Given the description of an element on the screen output the (x, y) to click on. 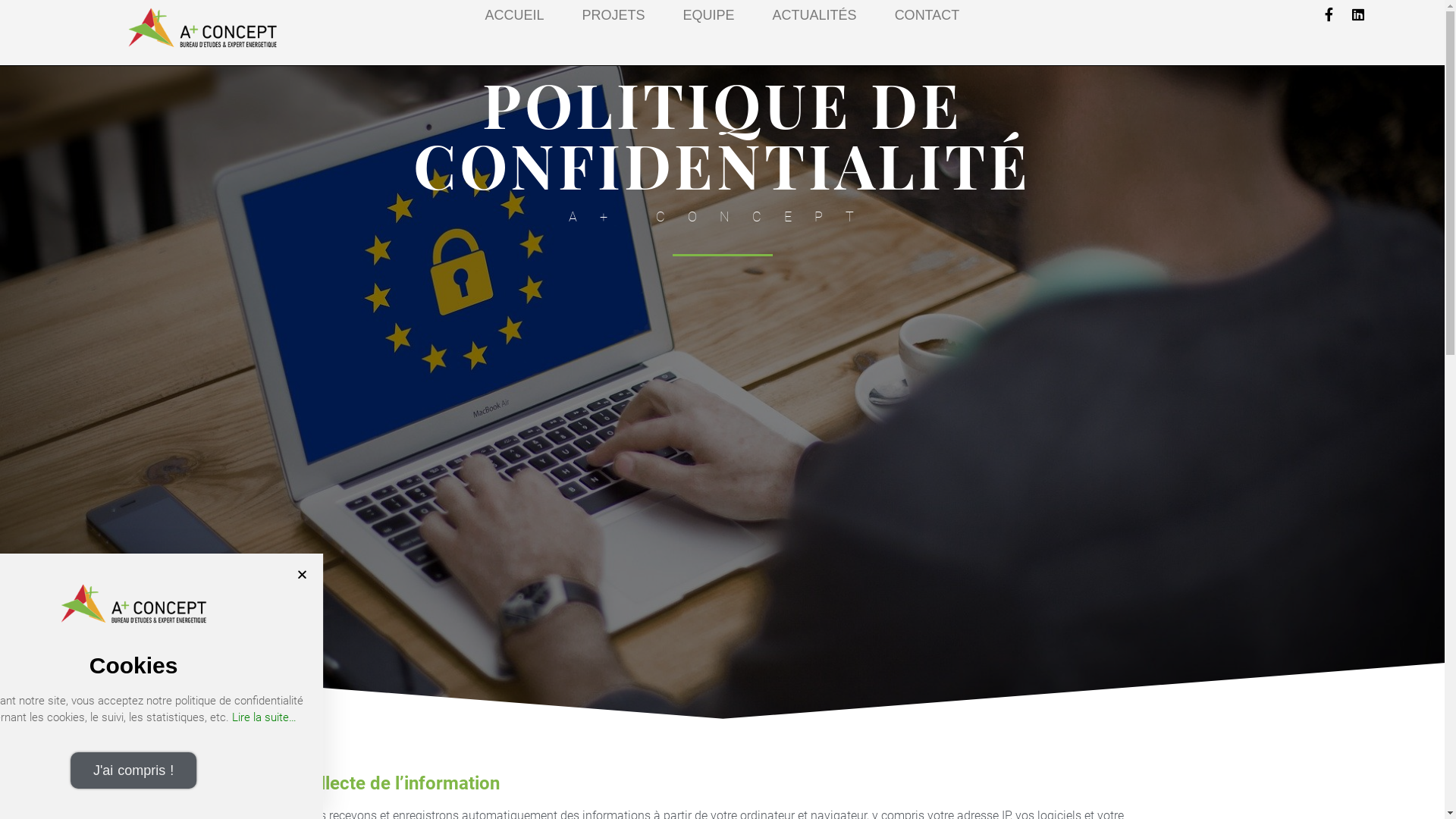
EQUIPE Element type: text (708, 14)
PROJETS Element type: text (613, 14)
ACCUEIL Element type: text (514, 14)
CONTACT Element type: text (927, 14)
